Given the description of an element on the screen output the (x, y) to click on. 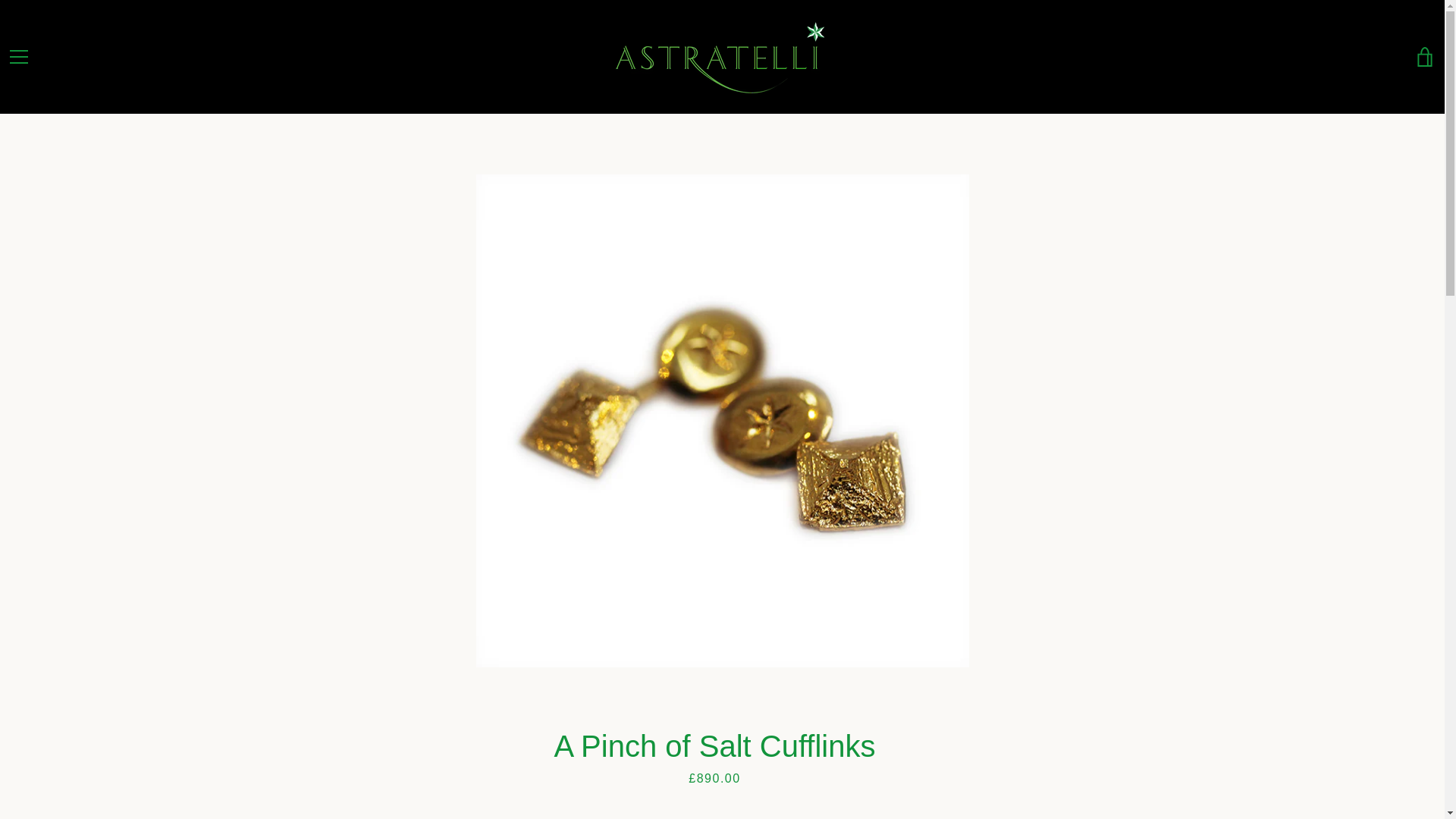
EXPAND NAVIGATION (18, 56)
Ok (1405, 699)
Twitter (33, 776)
Astratelli on Twitter (33, 776)
SEARCH (28, 659)
Instagram (59, 776)
Facebook (7, 776)
Astratelli on Facebook (7, 776)
Astratelli on Instagram (59, 776)
